Given the description of an element on the screen output the (x, y) to click on. 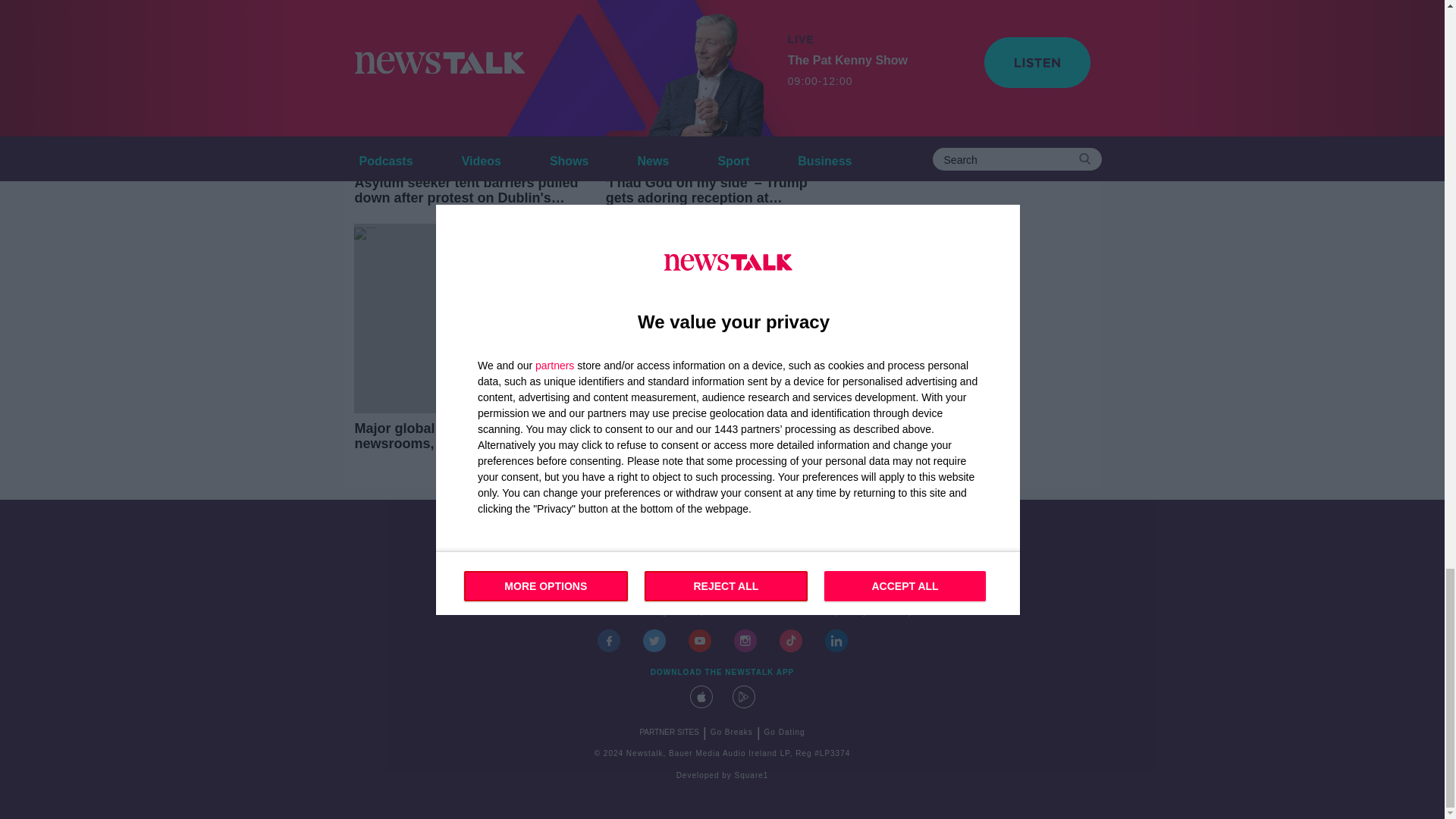
Privacy Policy (838, 612)
contact (547, 612)
competitions (708, 612)
advertising (644, 612)
Privacy (897, 612)
site terms (772, 612)
events (592, 612)
